Given the description of an element on the screen output the (x, y) to click on. 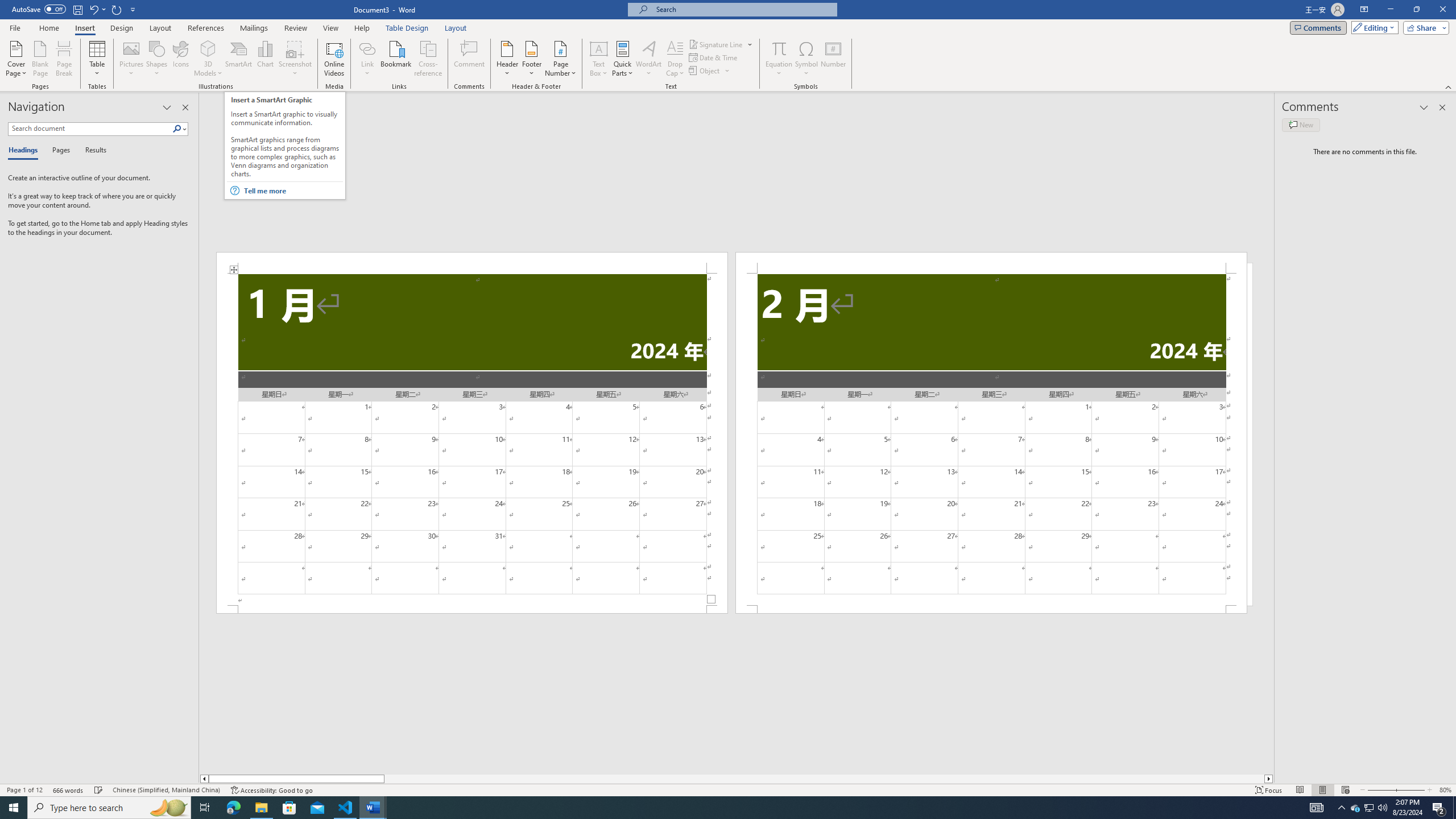
Chart... (265, 58)
Number... (833, 58)
Online Videos... (333, 58)
Object... (709, 69)
Screenshot (295, 58)
Blank Page (40, 58)
Footer -Section 2- (991, 609)
